Given the description of an element on the screen output the (x, y) to click on. 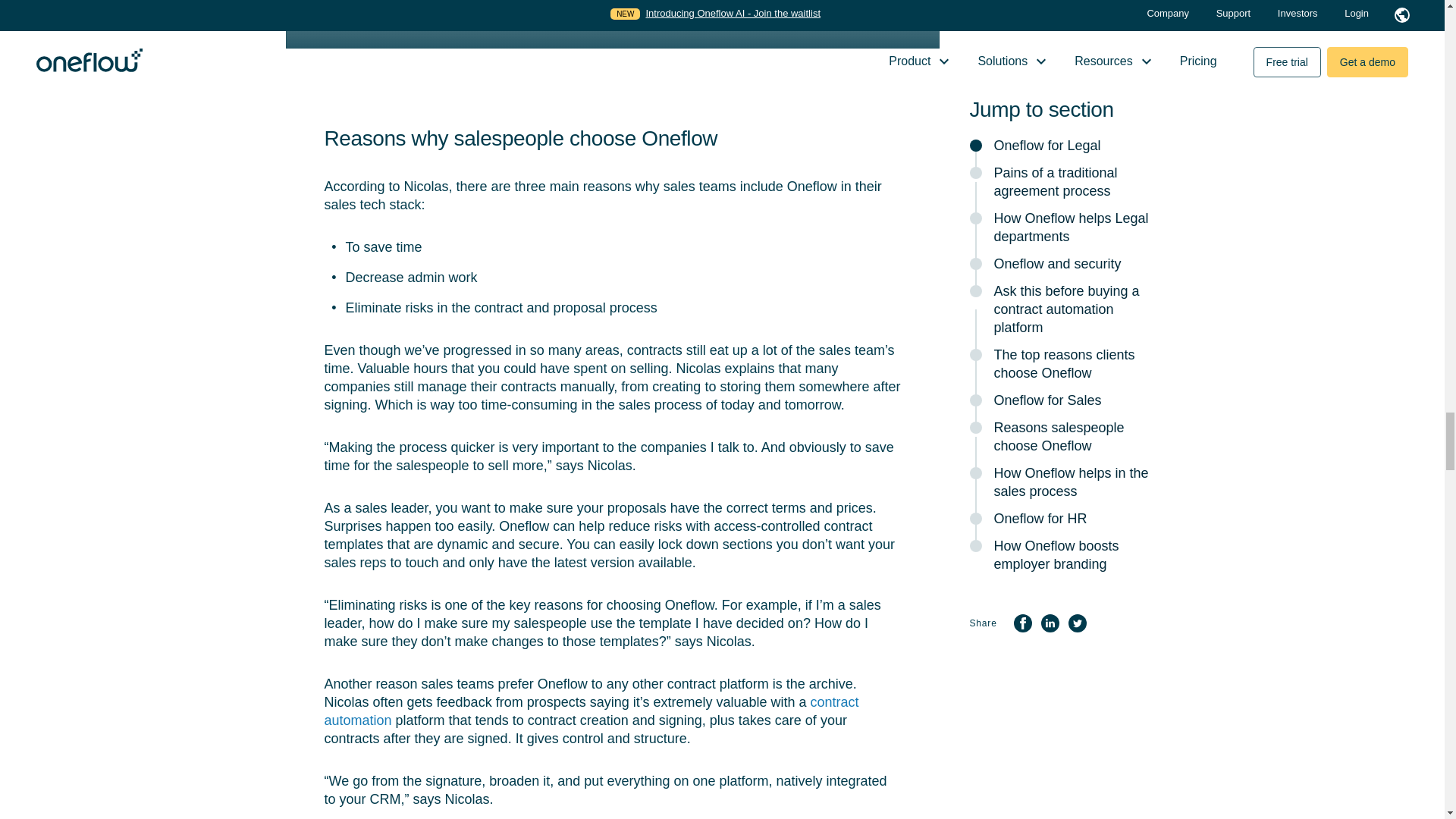
Oneflow for Sales (612, 24)
